Given the description of an element on the screen output the (x, y) to click on. 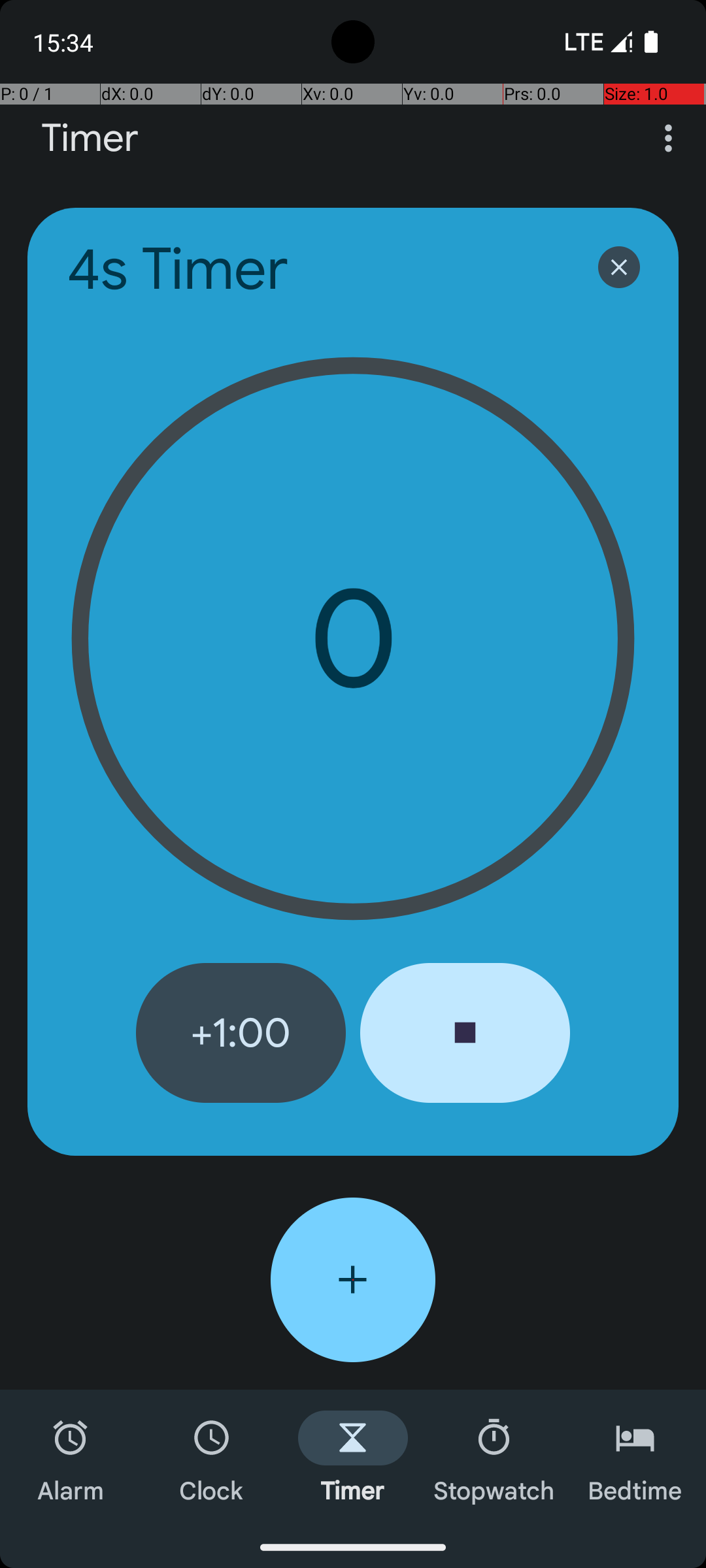
Add timer Element type: android.widget.Button (352, 1279)
4s Timer Element type: android.widget.TextView (315, 269)
+1:00 Element type: android.widget.Button (240, 1032)
